Given the description of an element on the screen output the (x, y) to click on. 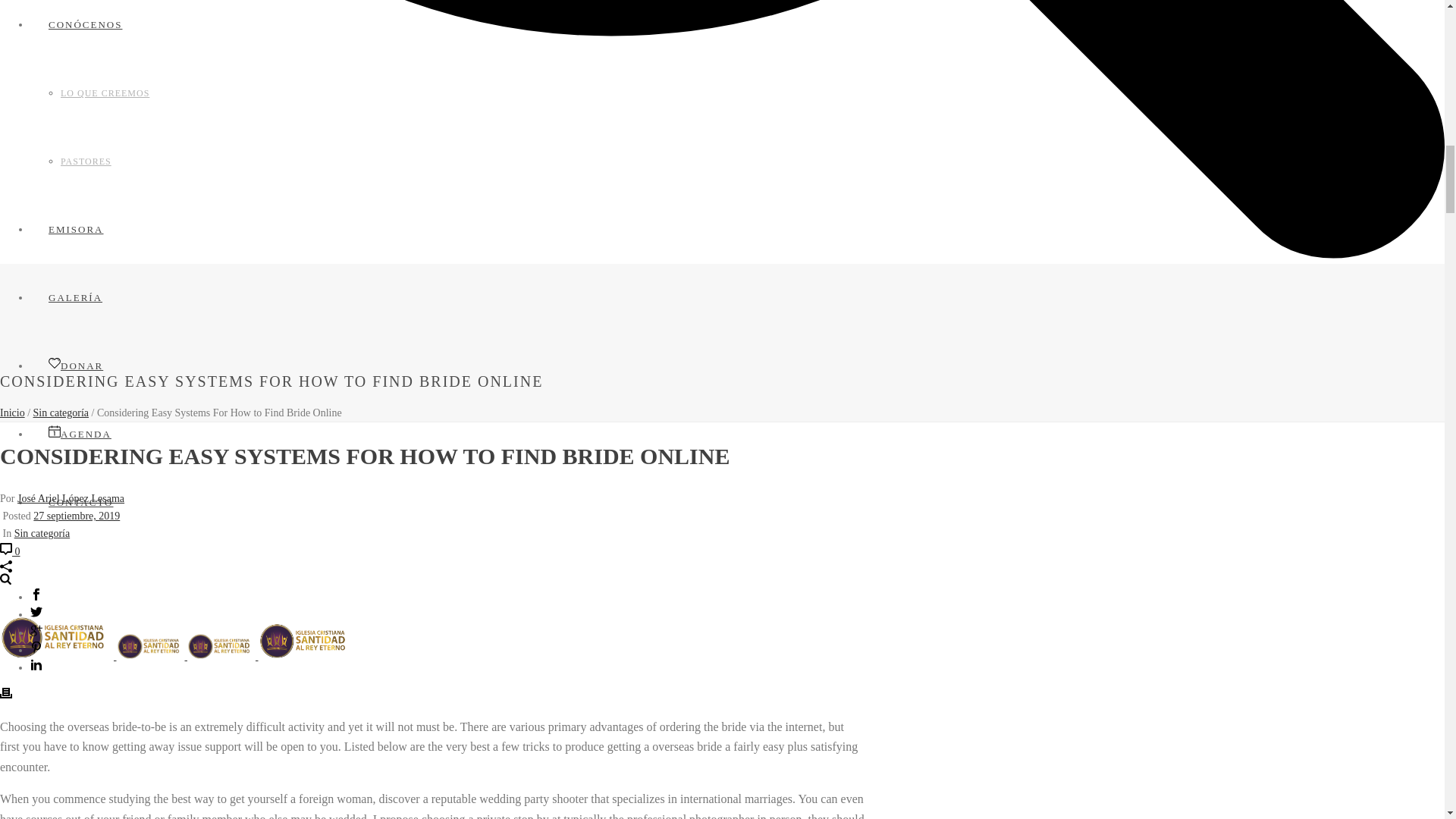
LO QUE CREEMOS (105, 92)
Una iglesia que proclama el evangelio (304, 640)
CONTACTO (81, 501)
DONAR (75, 365)
Inicio (12, 412)
0 (10, 551)
27 septiembre, 2019 (76, 515)
DONAR (75, 365)
Una iglesia que proclama el evangelio (150, 646)
PASTORES (86, 161)
